Given the description of an element on the screen output the (x, y) to click on. 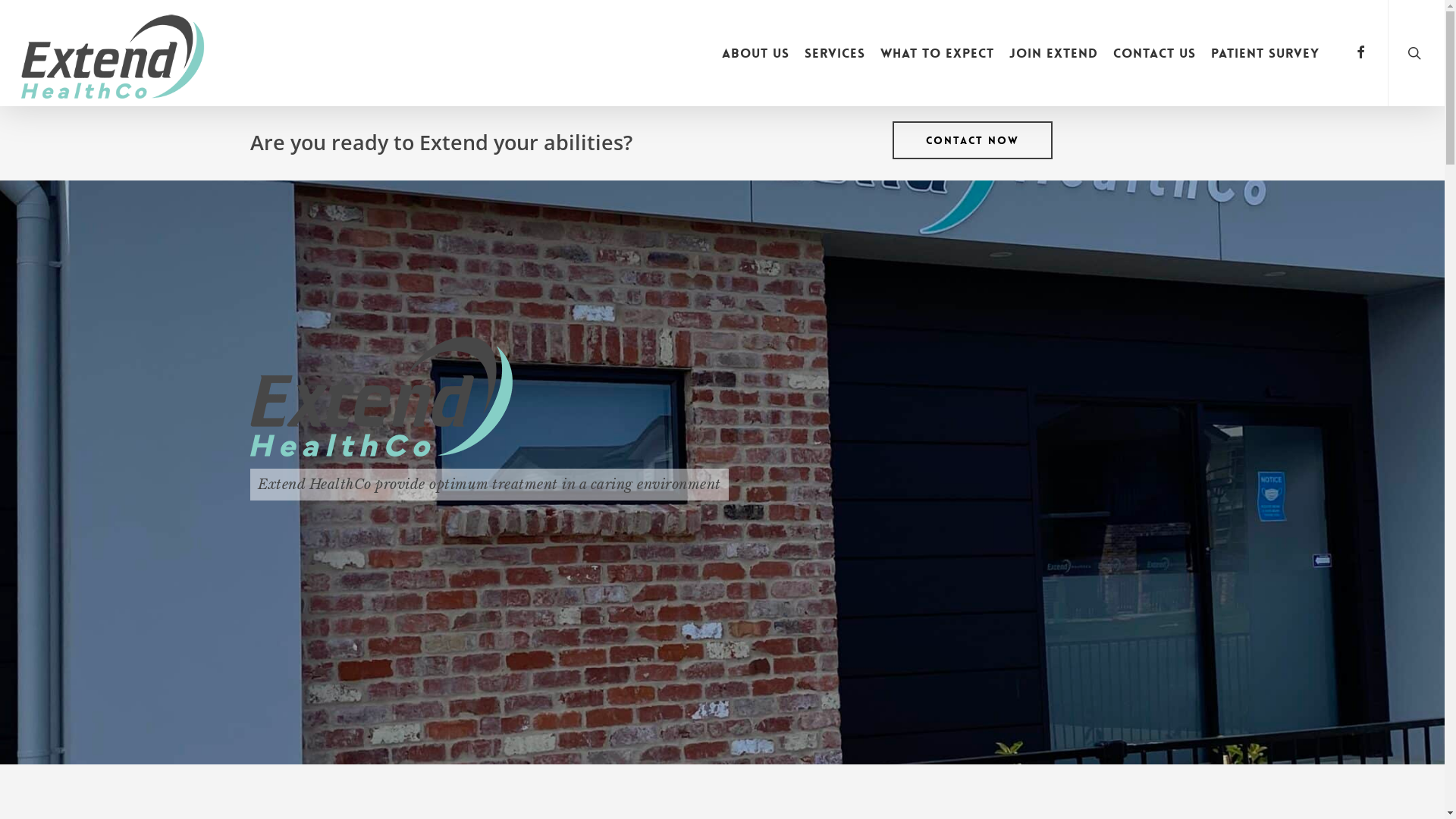
What To Expect Element type: text (936, 53)
facebook Element type: text (1360, 52)
Join Extend Element type: text (1053, 53)
Services Element type: text (834, 53)
search Element type: text (1415, 53)
About Us Element type: text (755, 53)
Contact Us Element type: text (1154, 53)
Patient Survey Element type: text (1265, 53)
Contact Now Element type: text (972, 140)
